Given the description of an element on the screen output the (x, y) to click on. 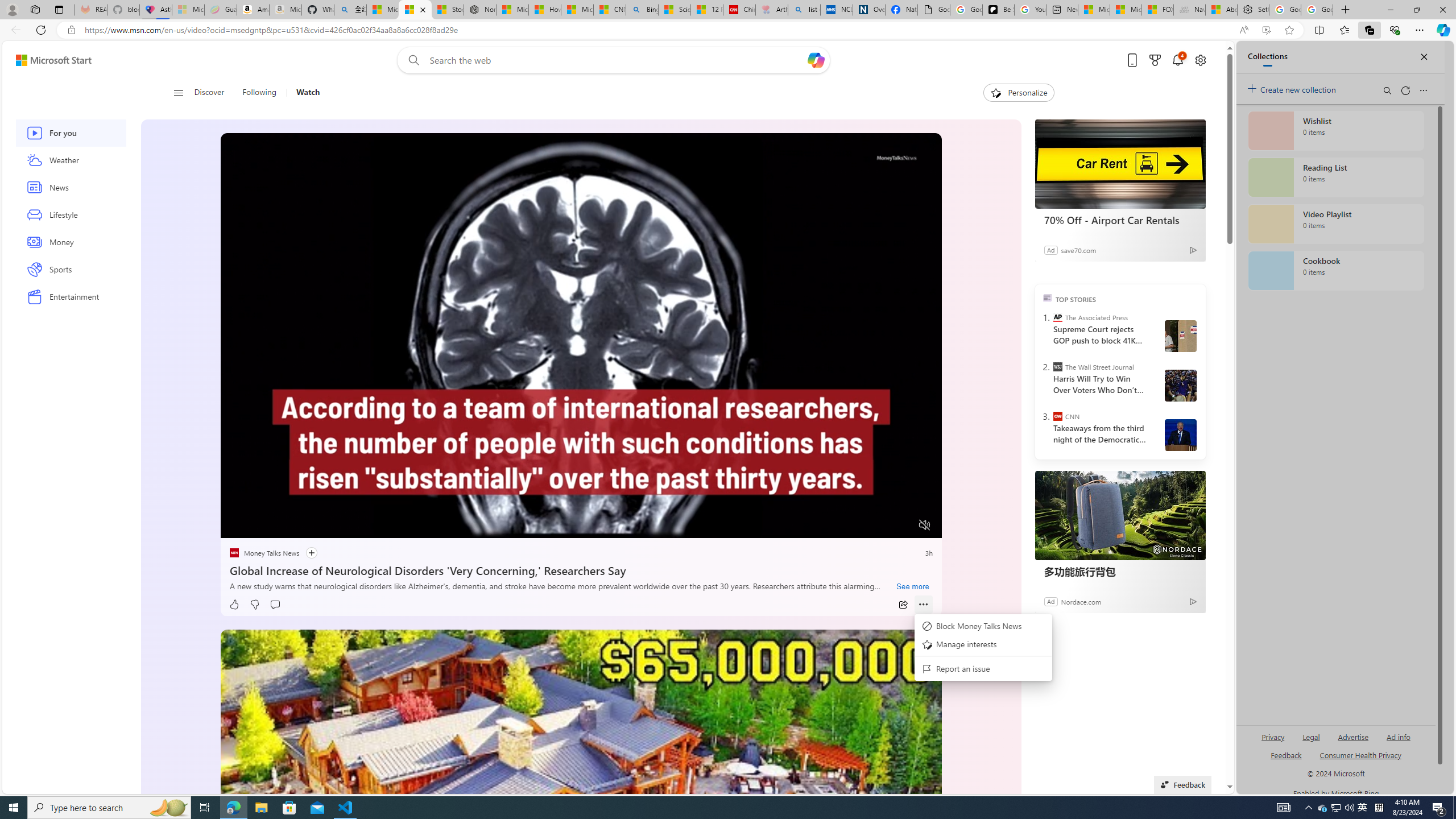
The Wall Street Journal (1057, 366)
More (923, 604)
AutomationID: genId96 (1285, 759)
Share (902, 604)
